Given the description of an element on the screen output the (x, y) to click on. 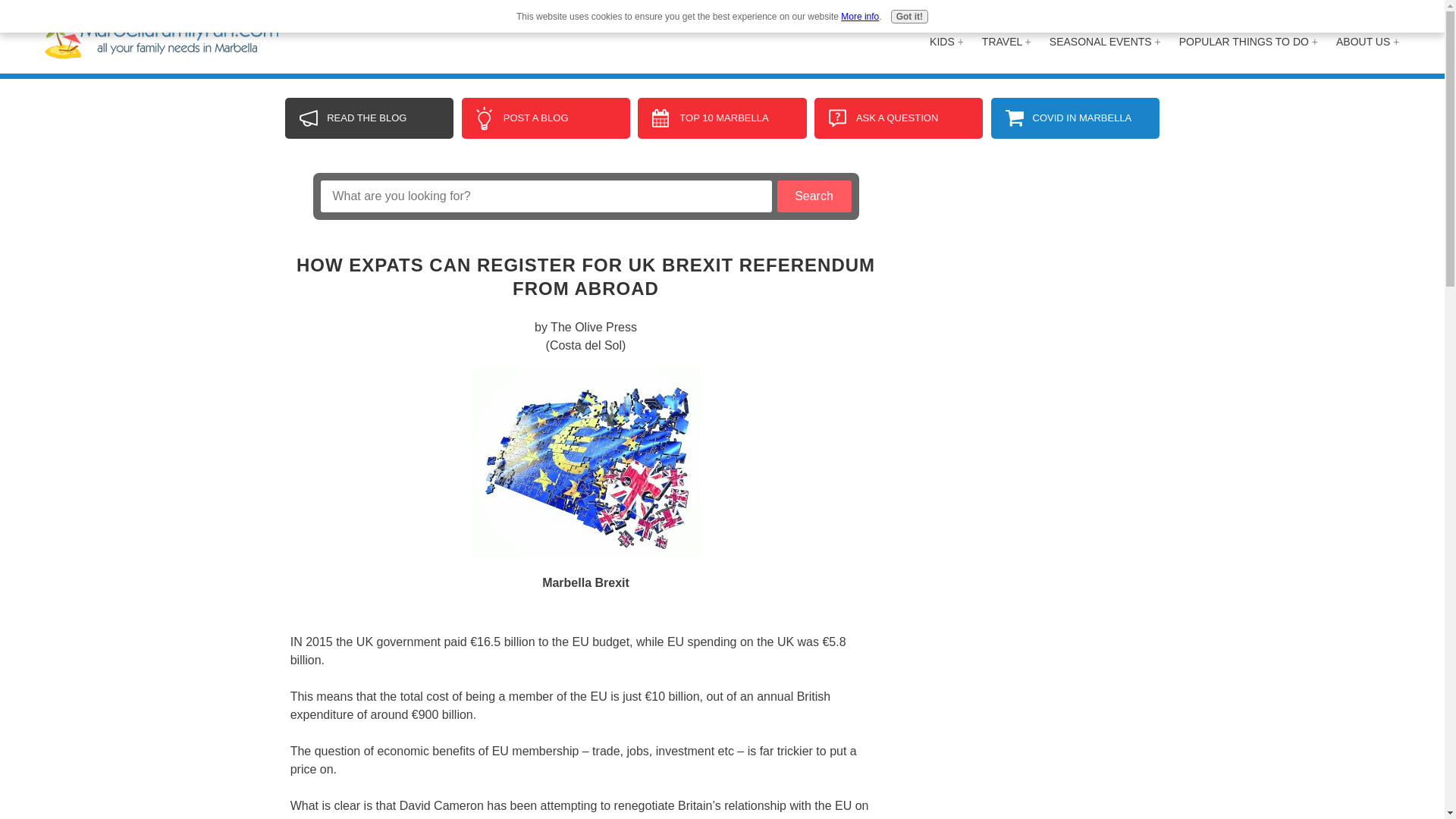
ASK A QUESTION (897, 117)
Search (813, 196)
Advertisement (1040, 266)
POST A BLOG (545, 117)
TOP 10 MARBELLA (721, 117)
COVID IN MARBELLA (1074, 117)
Marbella Brexit (584, 461)
ESP (1349, 14)
READ THE BLOG (368, 117)
ENG (1384, 14)
